Given the description of an element on the screen output the (x, y) to click on. 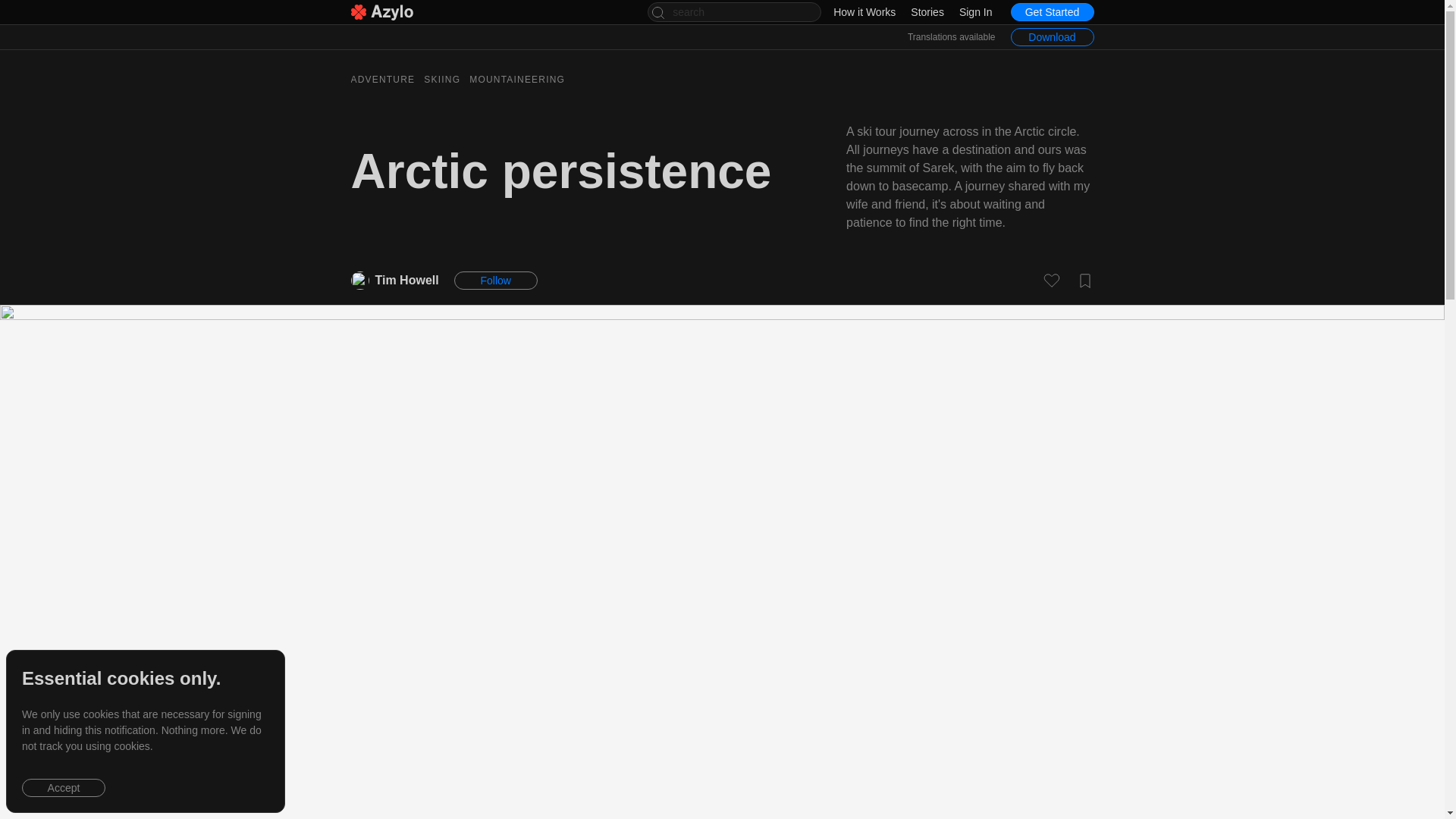
How it Works (863, 11)
Sign In (975, 11)
SKIING (441, 79)
Follow (495, 280)
ADVENTURE (382, 79)
Download (1051, 36)
Tim Howell (721, 79)
Get Started (410, 280)
MOUNTAINEERING (1043, 12)
